Given the description of an element on the screen output the (x, y) to click on. 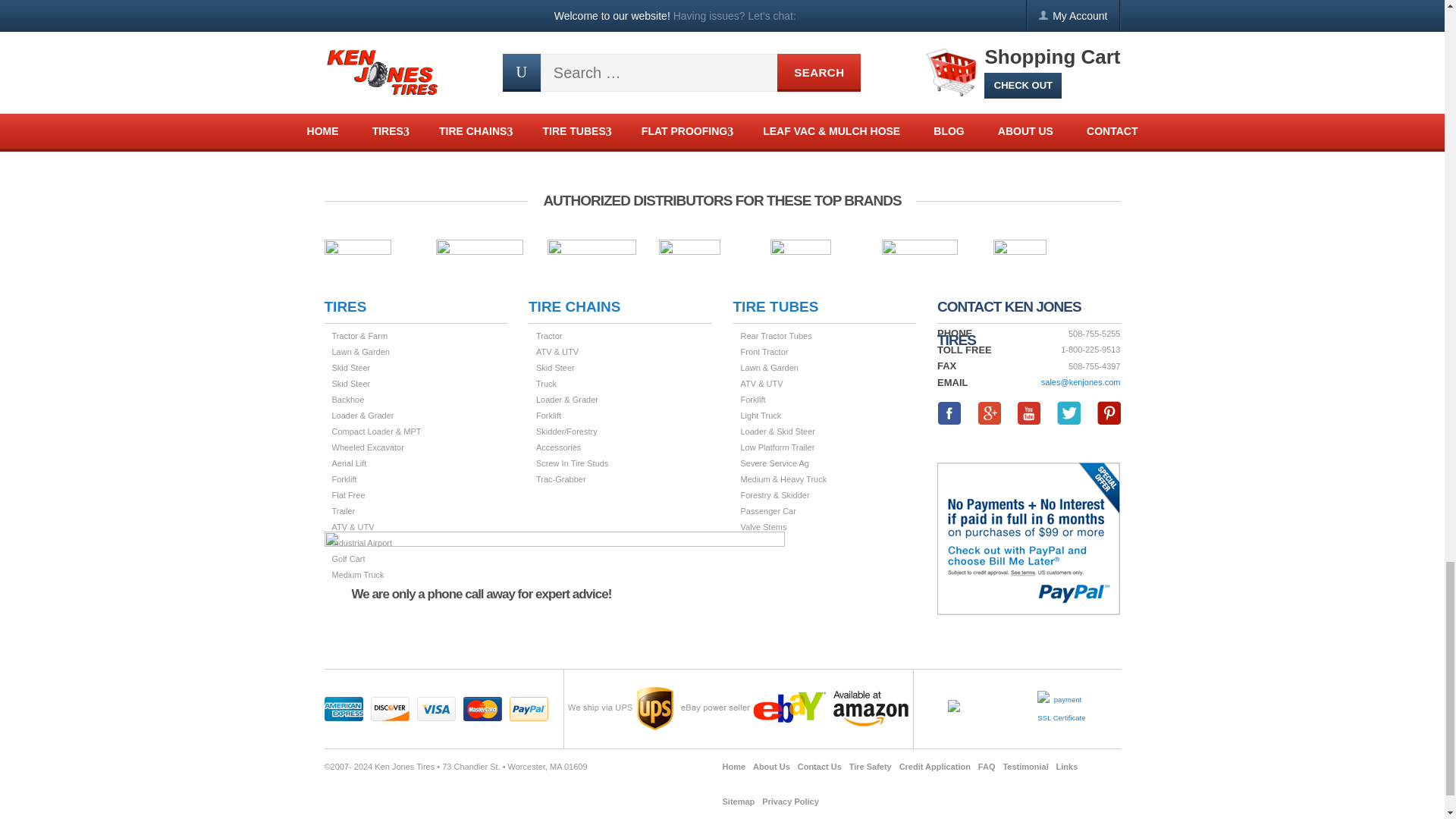
We are only a phone call away for expert advice! (554, 600)
